Given the description of an element on the screen output the (x, y) to click on. 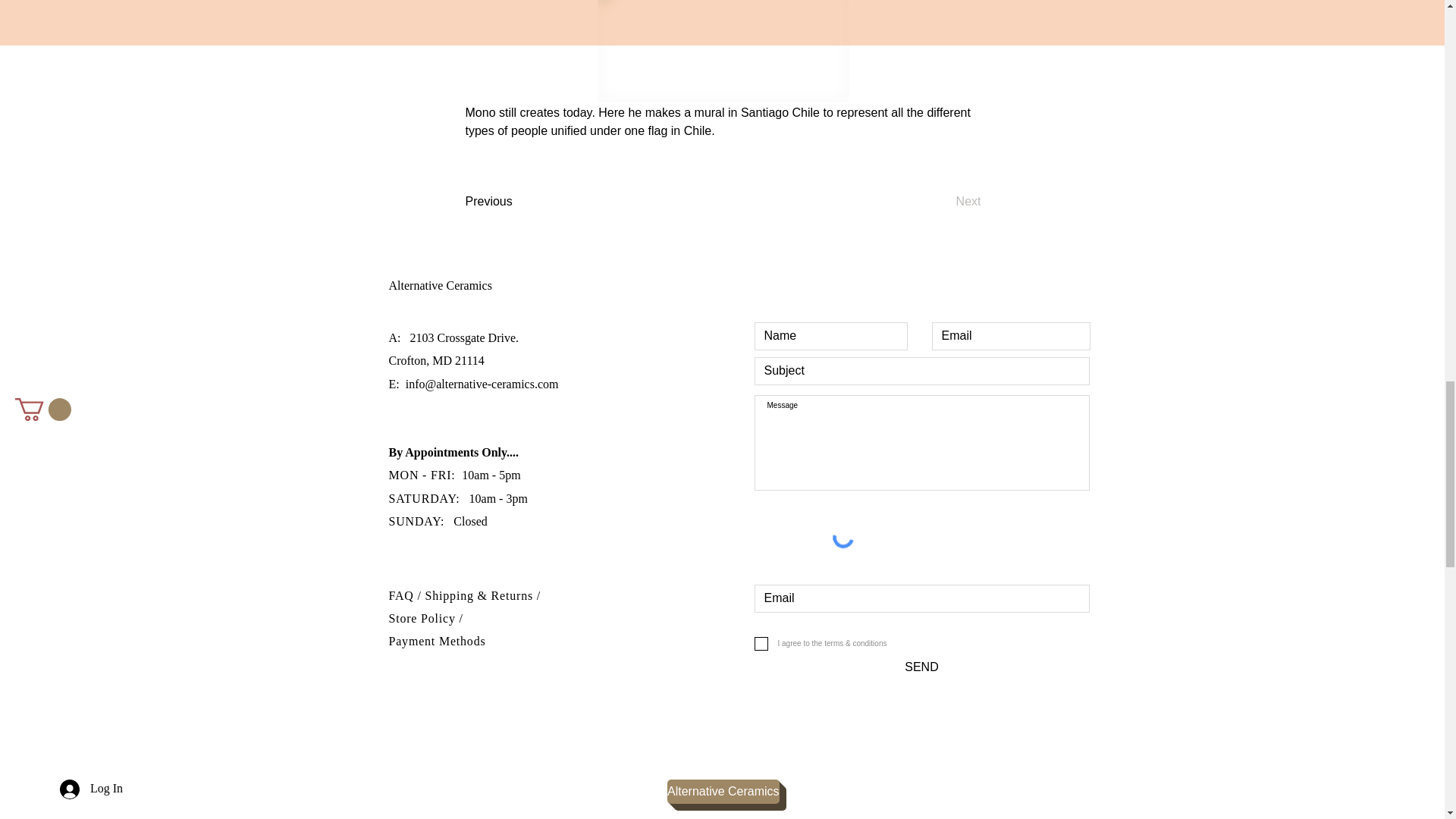
SEND (921, 667)
Next (943, 201)
Payment Methods (436, 640)
Store Policy  (423, 617)
Previous (515, 201)
